Given the description of an element on the screen output the (x, y) to click on. 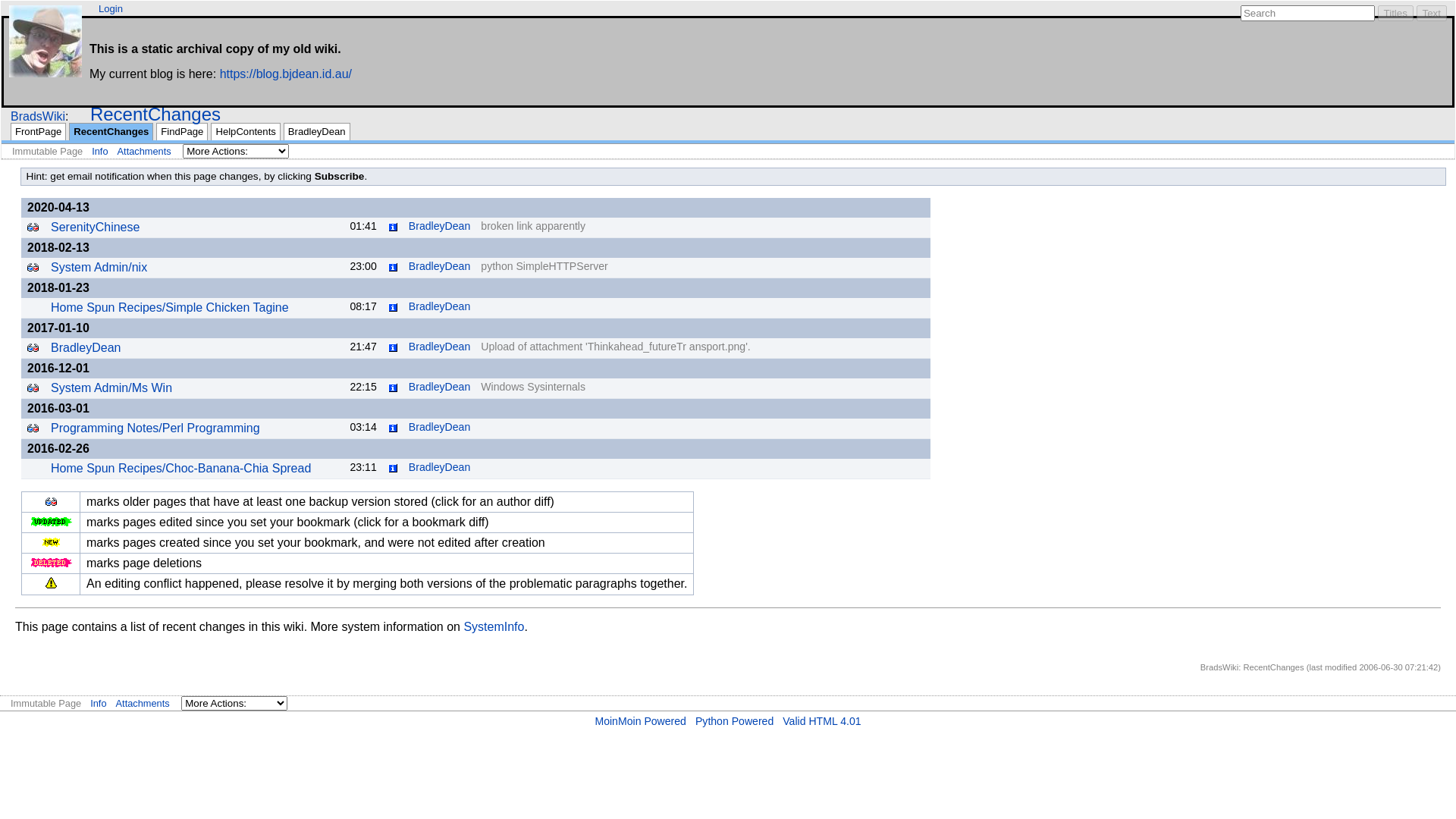
BradleyDean Element type: text (85, 347)
Info Element type: text (98, 703)
System Admin/nix Element type: text (98, 266)
BradleyDean Element type: text (439, 266)
Login Element type: text (110, 8)
BradleyDean Element type: text (439, 467)
Info Element type: hover (392, 307)
Info Element type: hover (392, 387)
FindPage Element type: text (181, 131)
Info Element type: hover (392, 226)
SerenityChinese Element type: text (94, 226)
Home Spun Recipes/Choc-Banana-Chia Spread Element type: text (180, 467)
MoinMoin Powered Element type: text (640, 721)
Attachments Element type: text (142, 703)
Info Element type: hover (392, 267)
Programming Notes/Perl Programming Element type: text (155, 427)
BradleyDean Element type: text (439, 346)
[DIFF] Element type: hover (32, 347)
[DIFF] Element type: hover (32, 387)
RecentChanges Element type: text (110, 131)
Info Element type: hover (392, 347)
BradleyDean Element type: text (439, 386)
BradleyDean Element type: text (439, 426)
[DIFF] Element type: hover (32, 267)
Info Element type: text (99, 150)
Home Spun Recipes/Simple Chicken Tagine Element type: text (169, 307)
BradsWiki Element type: text (37, 115)
BradleyDean Element type: text (439, 306)
FrontPage Element type: text (38, 131)
RecentChanges Element type: text (155, 113)
[DIFF] Element type: hover (50, 501)
https://blog.bjdean.id.au/ Element type: text (285, 73)
System Admin/Ms Win Element type: text (111, 387)
Text Element type: text (1431, 13)
Attachments Element type: text (144, 150)
Info Element type: hover (392, 468)
HelpContents Element type: text (245, 131)
Valid HTML 4.01 Element type: text (821, 721)
/!\ Element type: hover (50, 582)
[DIFF] Element type: hover (32, 427)
BradleyDean Element type: text (316, 131)
Info Element type: hover (392, 427)
[DIFF] Element type: hover (32, 226)
Python Powered Element type: text (734, 721)
[DELETED] Element type: hover (50, 562)
[UPDATED] Element type: hover (50, 521)
BradleyDean Element type: text (439, 225)
Titles Element type: text (1395, 13)
SystemInfo Element type: text (493, 626)
[NEW] Element type: hover (50, 541)
